Given the description of an element on the screen output the (x, y) to click on. 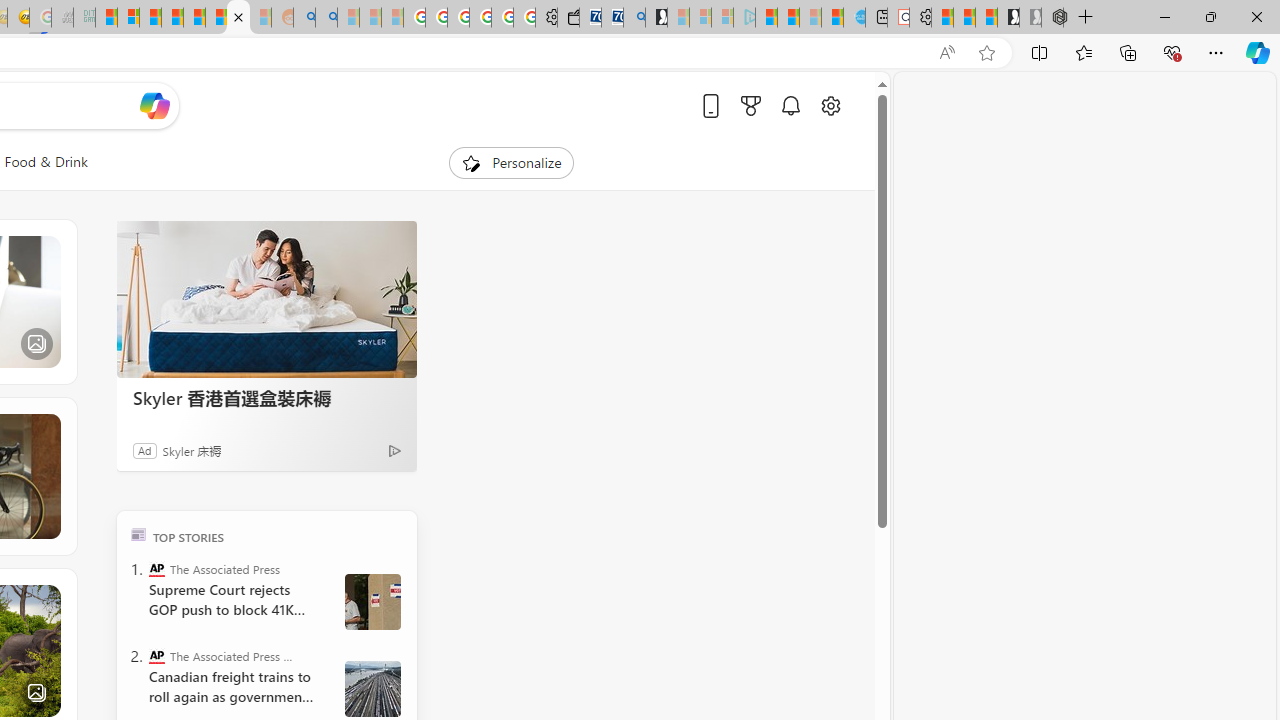
Nordace - Nordace Siena Is Not An Ordinary Backpack (1052, 17)
Ad Choice (394, 449)
Personalize (511, 162)
Play Free Online Games | Games from Microsoft Start (1008, 17)
To get missing image descriptions, open the context menu. (471, 162)
The Associated Press (156, 568)
Student Loan Update: Forgiveness Program Ends This Month (172, 17)
TOP (138, 534)
 Canada Railroads Unions (372, 688)
